Given the description of an element on the screen output the (x, y) to click on. 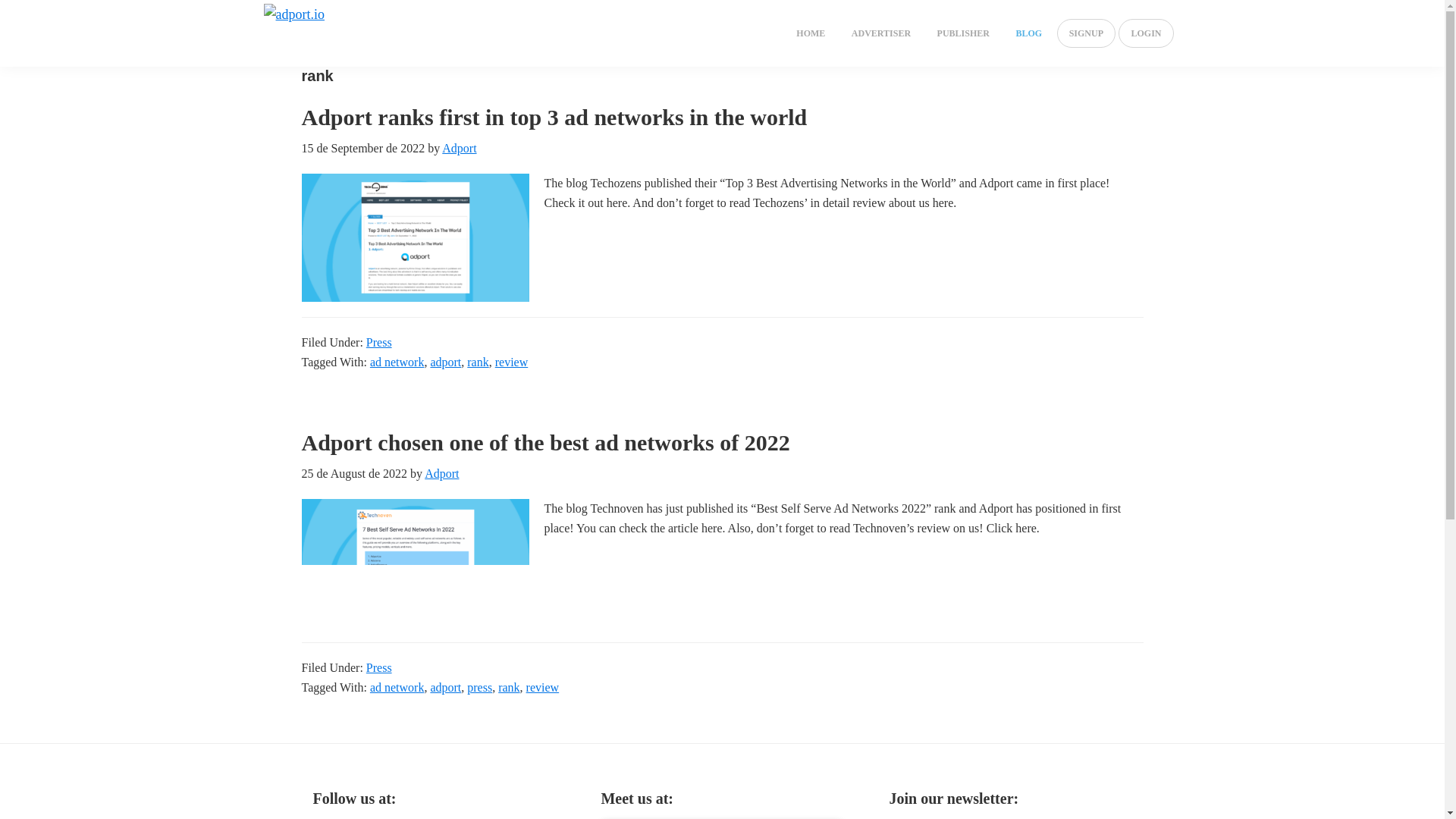
review (542, 686)
Press (378, 667)
adport (445, 686)
PUBLISHER (963, 32)
Adport (441, 472)
HOME (809, 32)
ad network (397, 686)
review (511, 361)
SIGNUP (1086, 32)
ad network (397, 361)
